Given the description of an element on the screen output the (x, y) to click on. 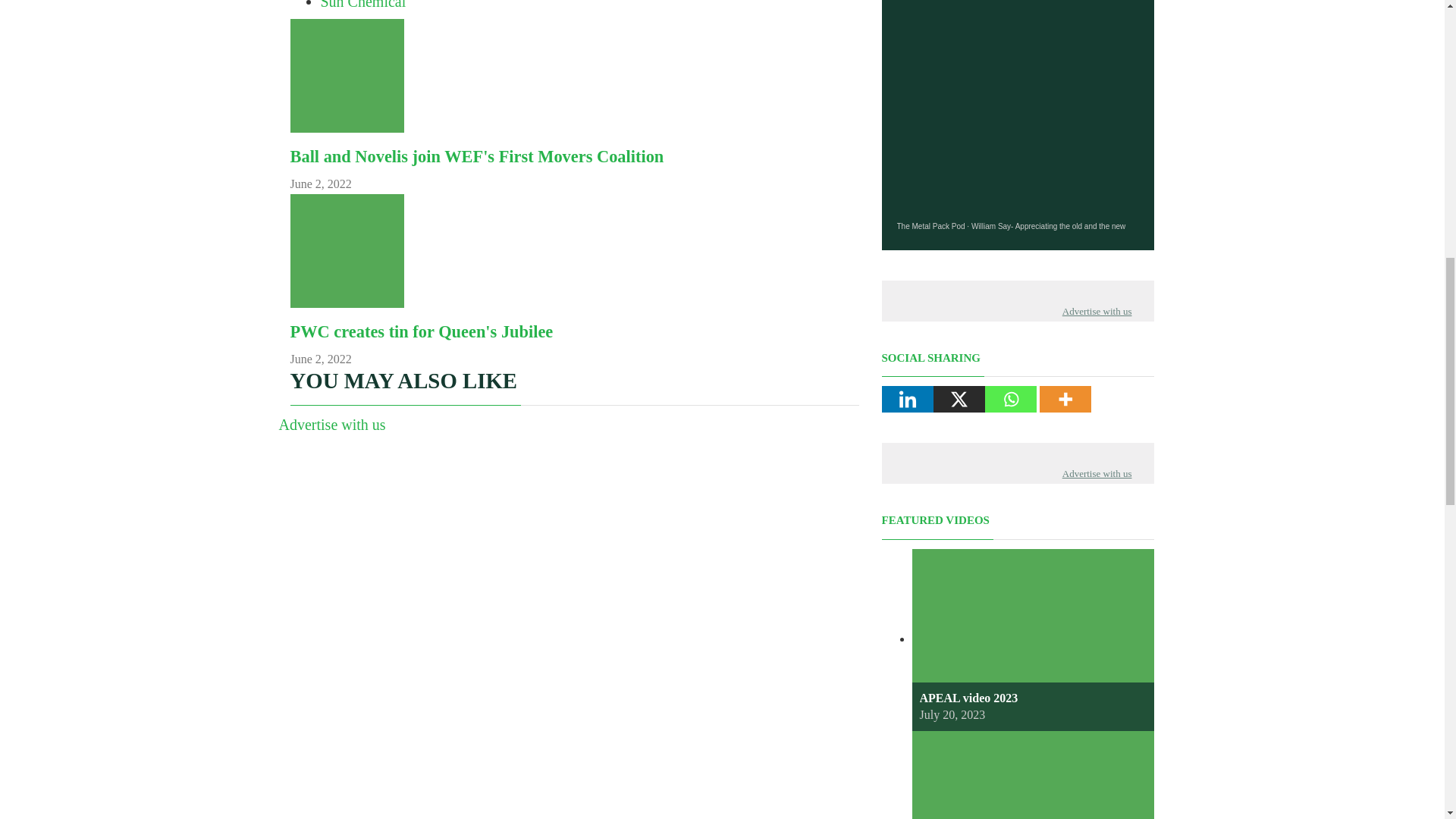
The Metal Pack Pod (929, 225)
Sun Chemical (363, 4)
prev post (421, 331)
Advertise with us (332, 424)
Ball and Novelis join WEF's First Movers Coalition (476, 156)
The Metal Pack Pod (929, 225)
prev post (476, 156)
PWC creates tin for Queen's Jubilee (421, 331)
